Given the description of an element on the screen output the (x, y) to click on. 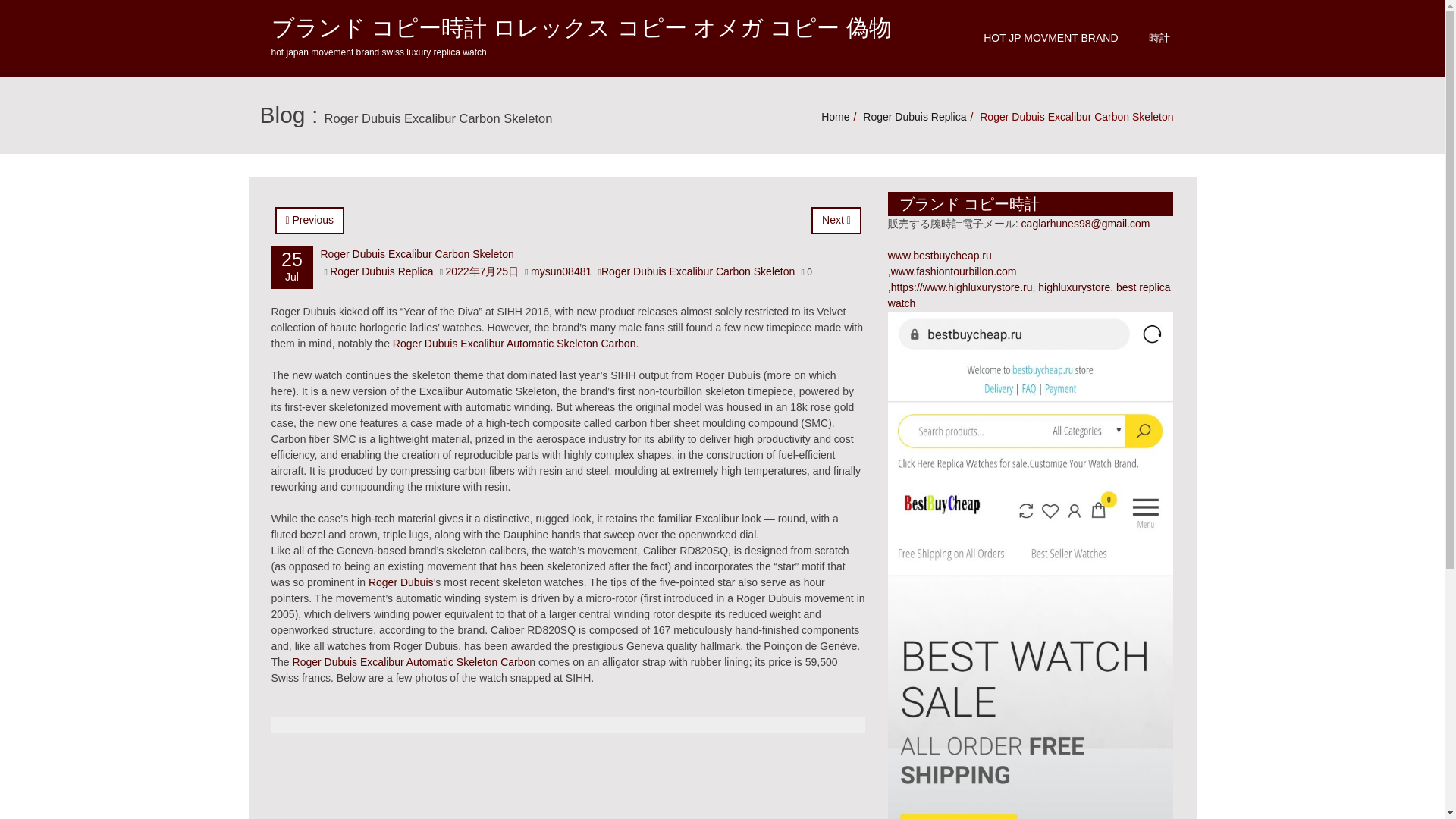
View all posts in Roger Dubuis Replica (914, 116)
HOT JP MOVMENT BRAND (1050, 37)
www.bestbuycheap.ru (939, 255)
best replica watch (1029, 295)
highluxurystore (1073, 287)
Roger Dubuis Excalibur Automatic Skeleton Carbo (410, 662)
Roger Dubuis Replica (914, 116)
Previous (309, 220)
Next (835, 220)
mysun08481 (561, 271)
